Given the description of an element on the screen output the (x, y) to click on. 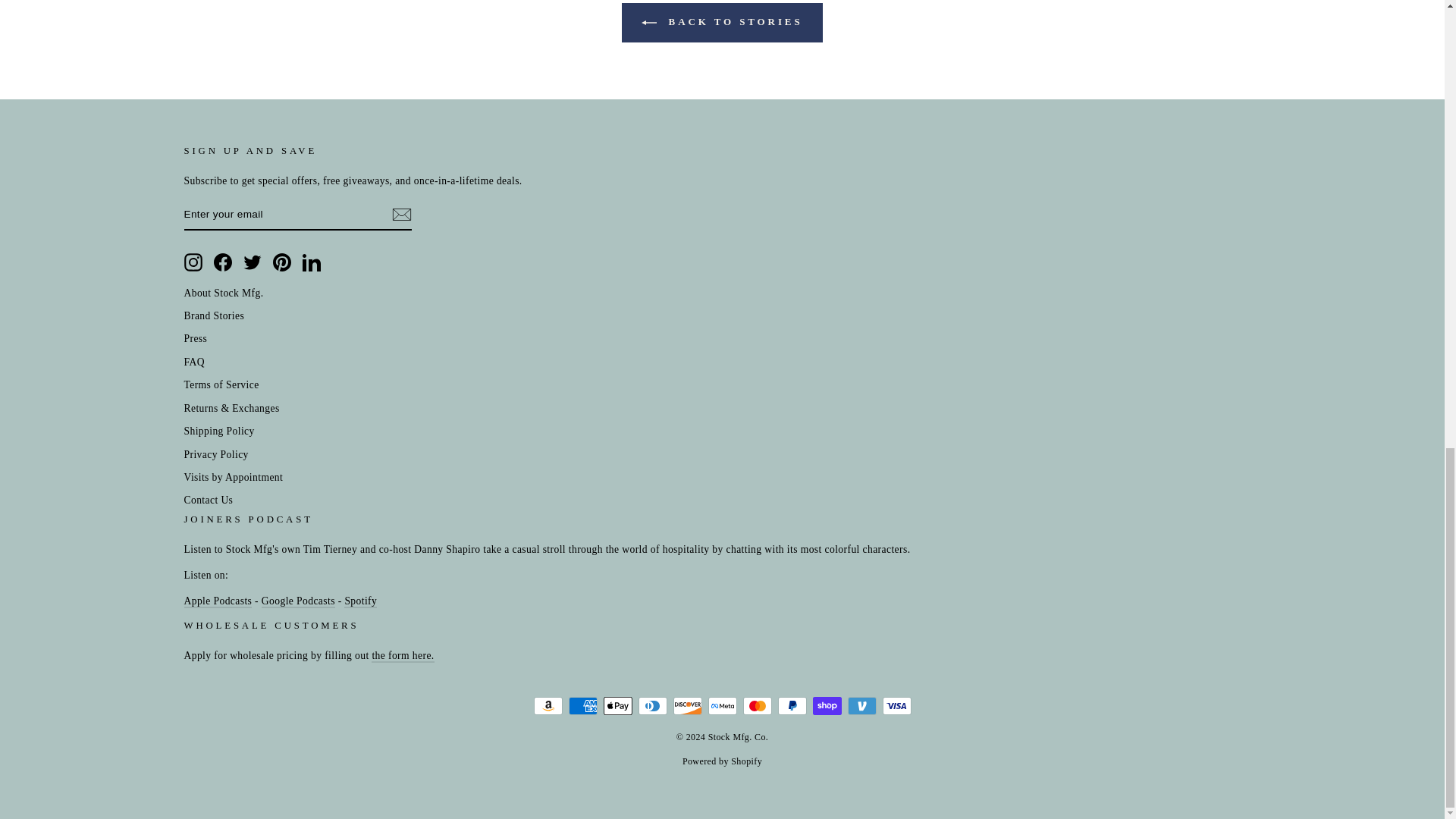
Stock Mfg. Co. on Twitter (251, 262)
Stock Mfg. Co. on LinkedIn (310, 262)
Stock Mfg. Co. on Instagram (192, 262)
Diners Club (652, 705)
Mastercard (756, 705)
Wholesale (402, 656)
Apple Pay (617, 705)
Meta Pay (721, 705)
Stock Mfg. Co. on Pinterest (282, 262)
Amazon (548, 705)
Stock Mfg. Co. on Facebook (222, 262)
Discover (686, 705)
American Express (582, 705)
